Given the description of an element on the screen output the (x, y) to click on. 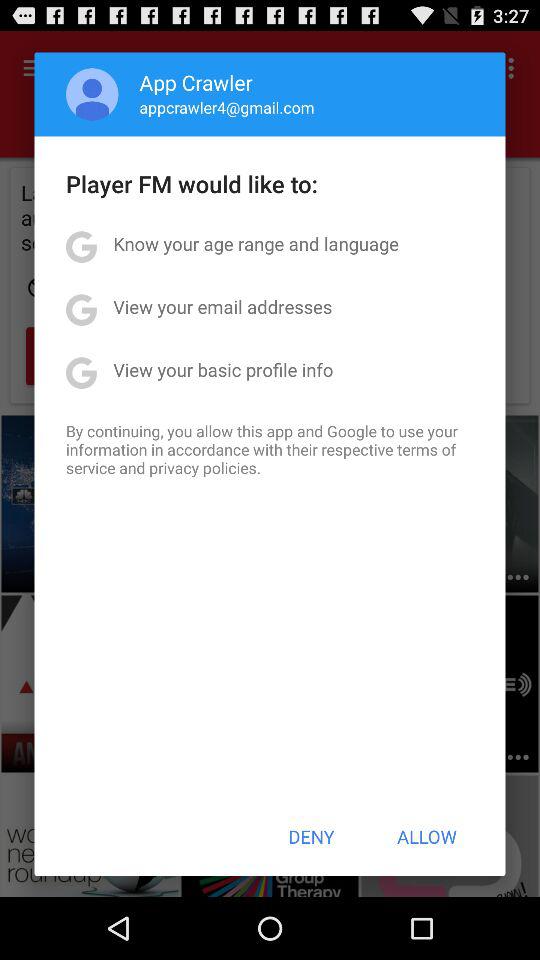
swipe to the know your age icon (255, 243)
